Given the description of an element on the screen output the (x, y) to click on. 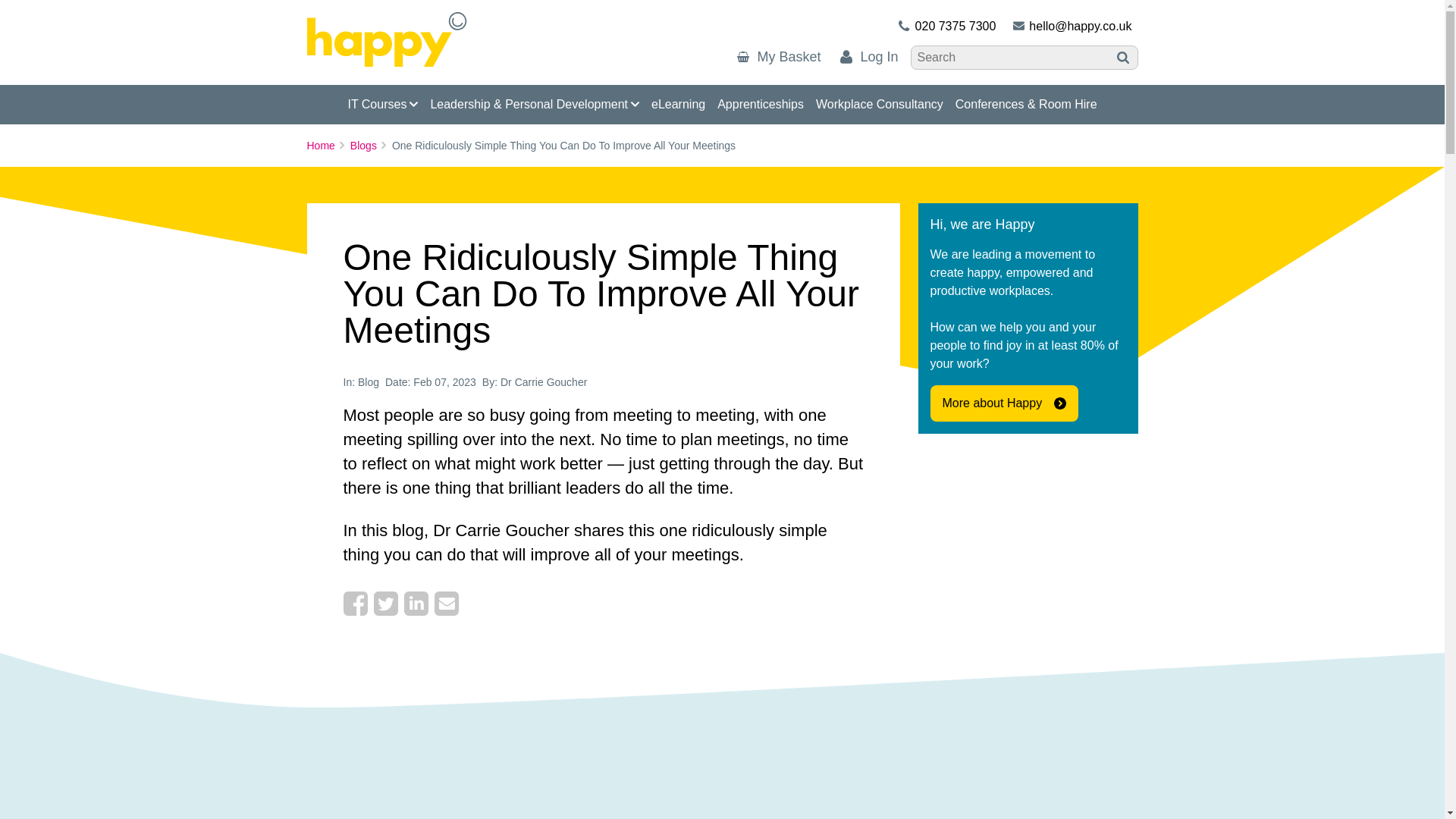
IT Courses (382, 104)
Search (1121, 57)
Search (1121, 57)
Workplace Consultancy (879, 104)
Apprenticeships (760, 104)
Happy (385, 39)
My Basket (780, 56)
Blogs (367, 145)
020 7375 7300 (944, 26)
Home (323, 145)
